Given the description of an element on the screen output the (x, y) to click on. 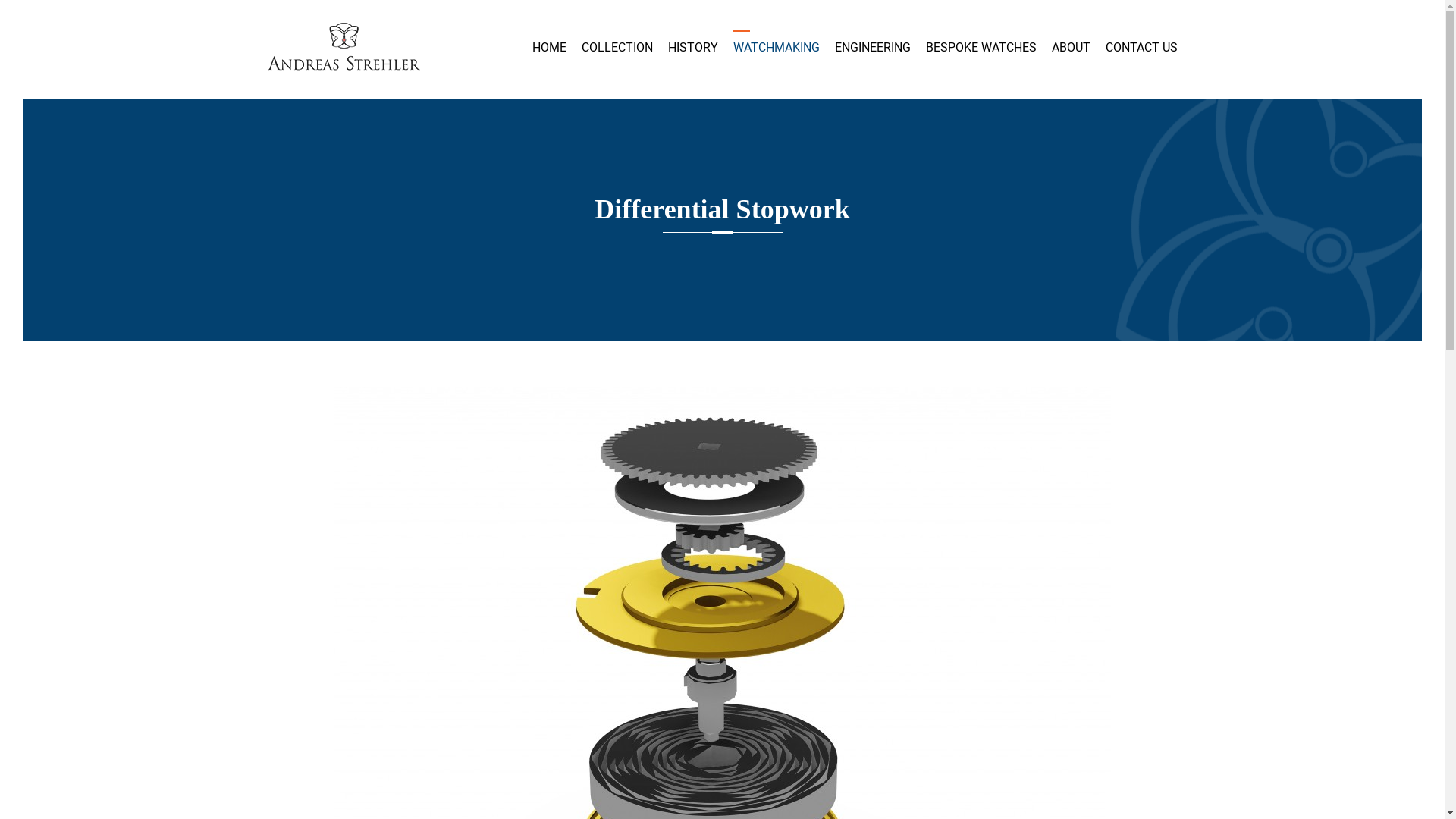
HISTORY Element type: text (692, 47)
CONTACT US Element type: text (1141, 47)
ENGINEERING Element type: text (872, 47)
HOME Element type: text (549, 47)
WATCHMAKING Element type: text (775, 47)
BESPOKE WATCHES Element type: text (980, 47)
ABOUT Element type: text (1070, 47)
GARRICK Element type: text (342, 48)
COLLECTION Element type: text (616, 47)
